Given the description of an element on the screen output the (x, y) to click on. 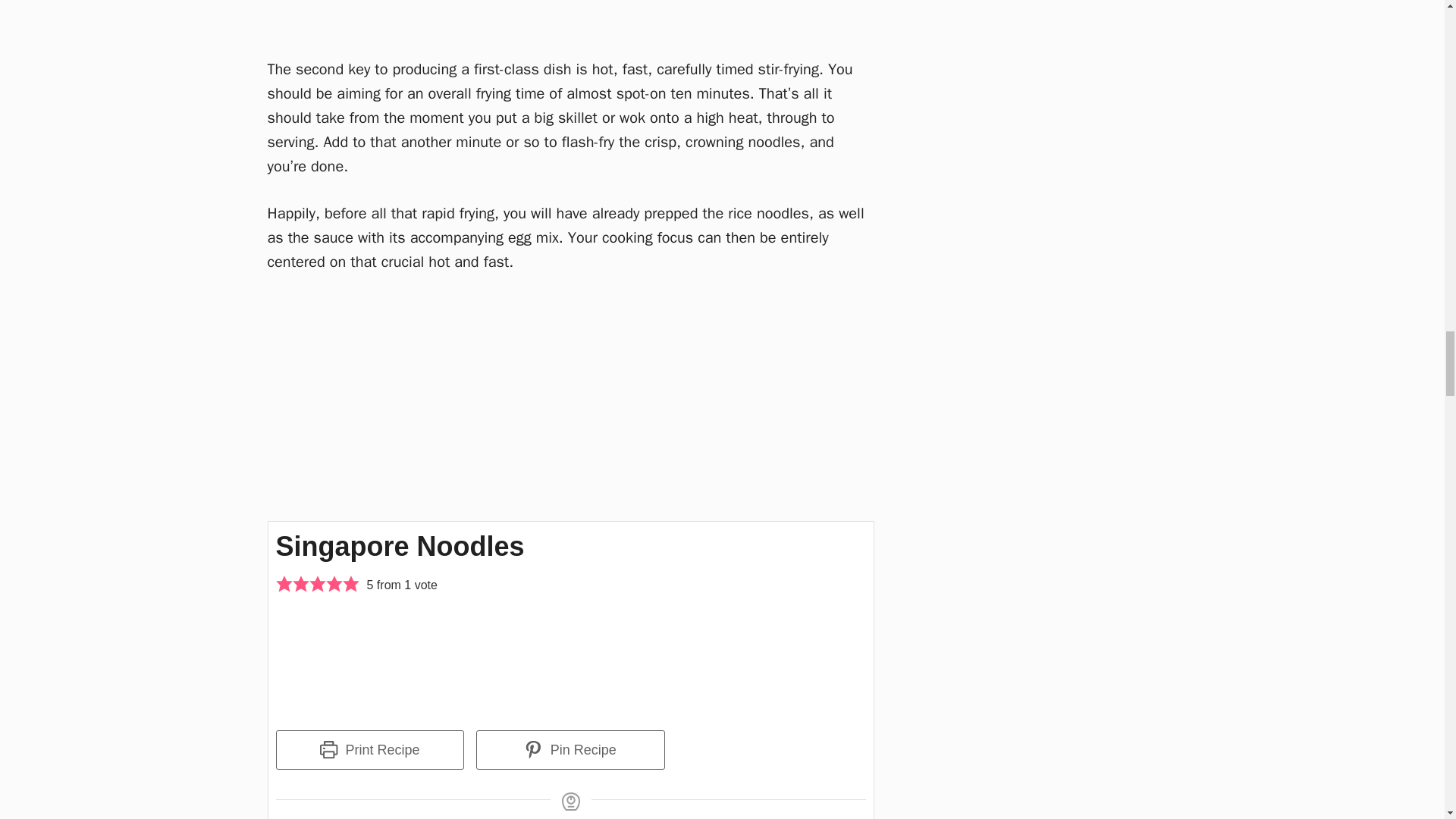
Print Recipe (370, 749)
Pin Recipe (570, 749)
